Given the description of an element on the screen output the (x, y) to click on. 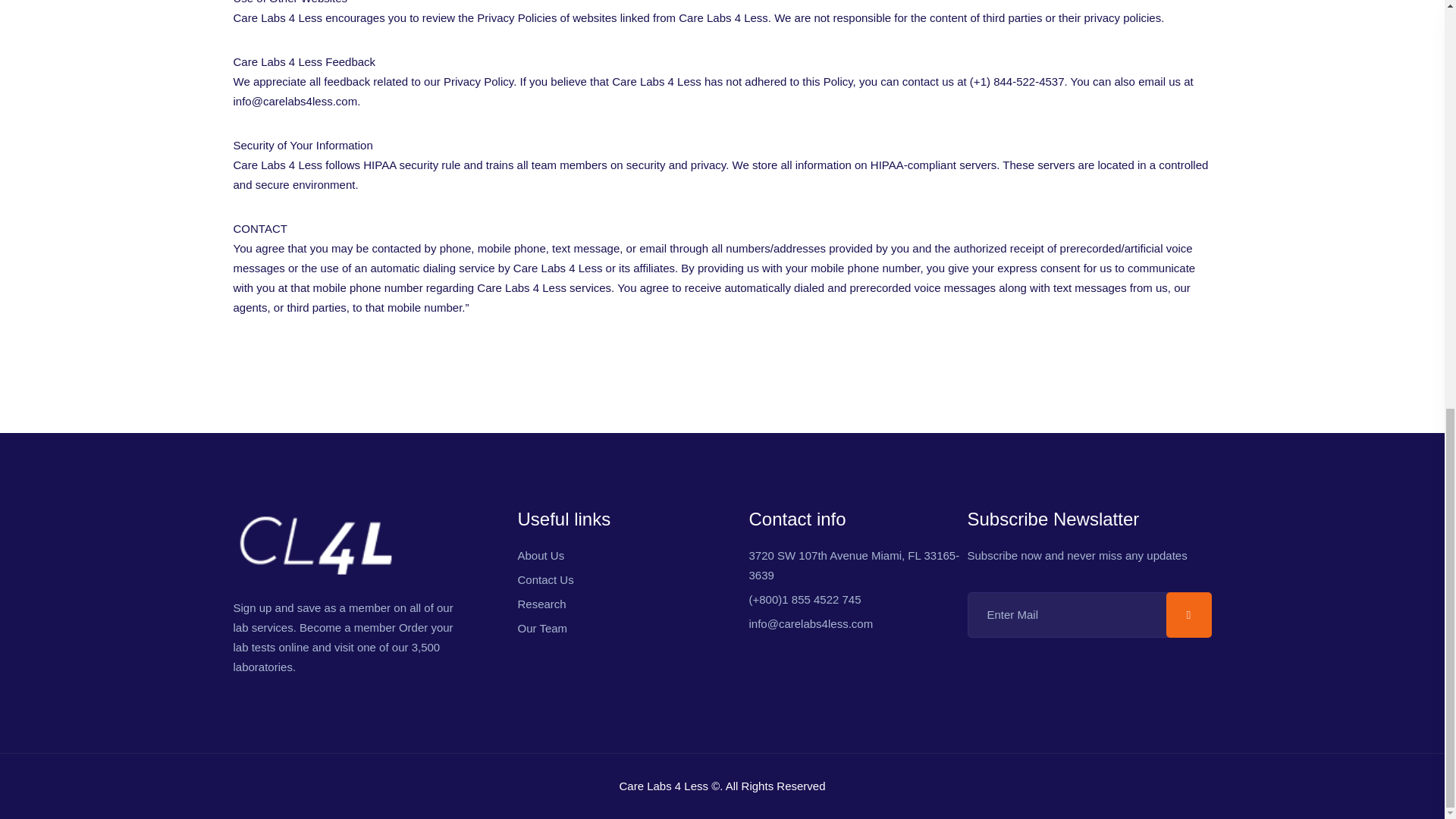
3720 SW 107th Avenue Miami, FL 33165-3639 (854, 564)
Research (541, 603)
Our Team (541, 627)
About Us (540, 554)
Contact Us (544, 579)
